Given the description of an element on the screen output the (x, y) to click on. 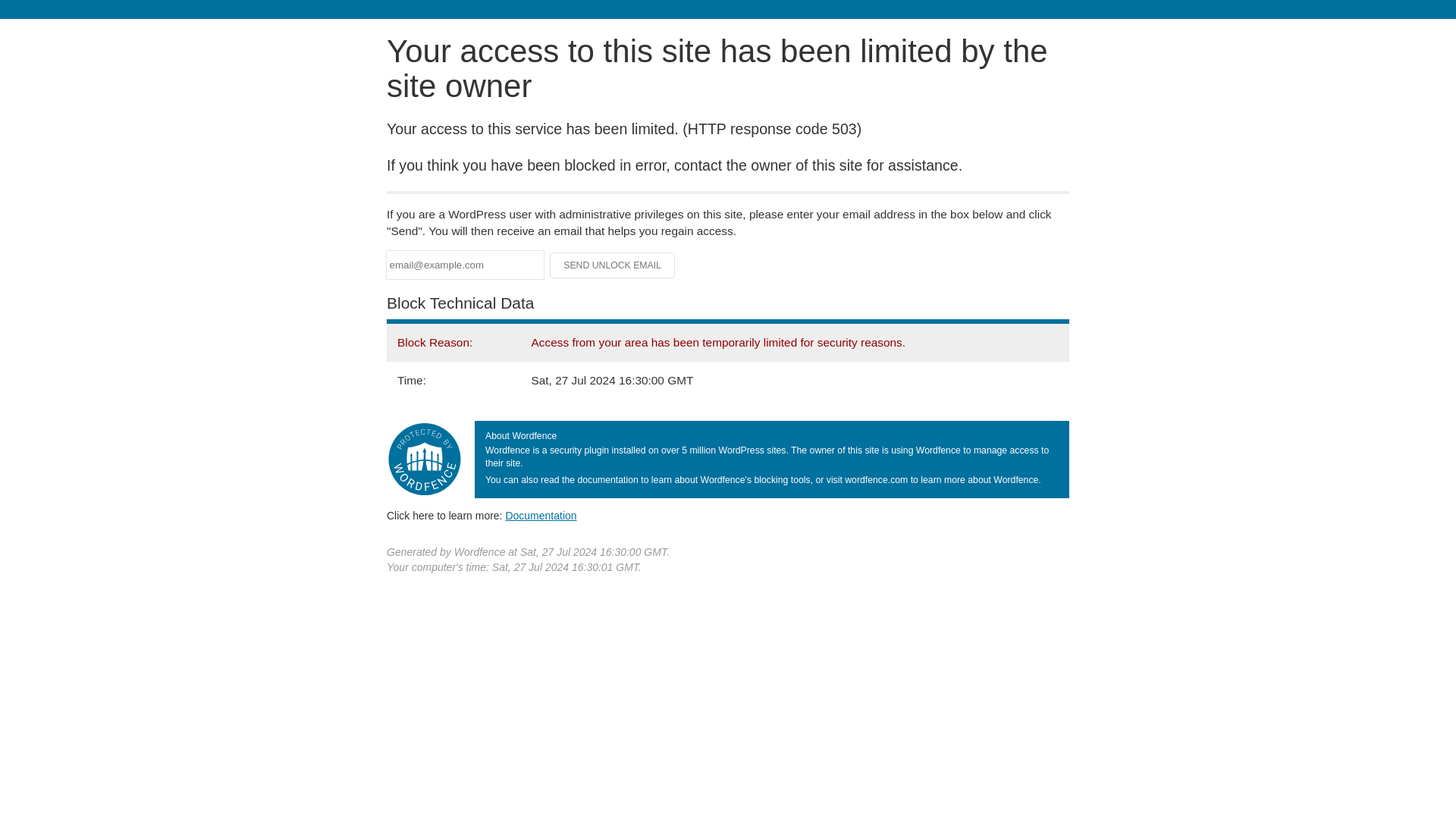
Send Unlock Email (612, 265)
Documentation (540, 515)
Send Unlock Email (612, 265)
